Given the description of an element on the screen output the (x, y) to click on. 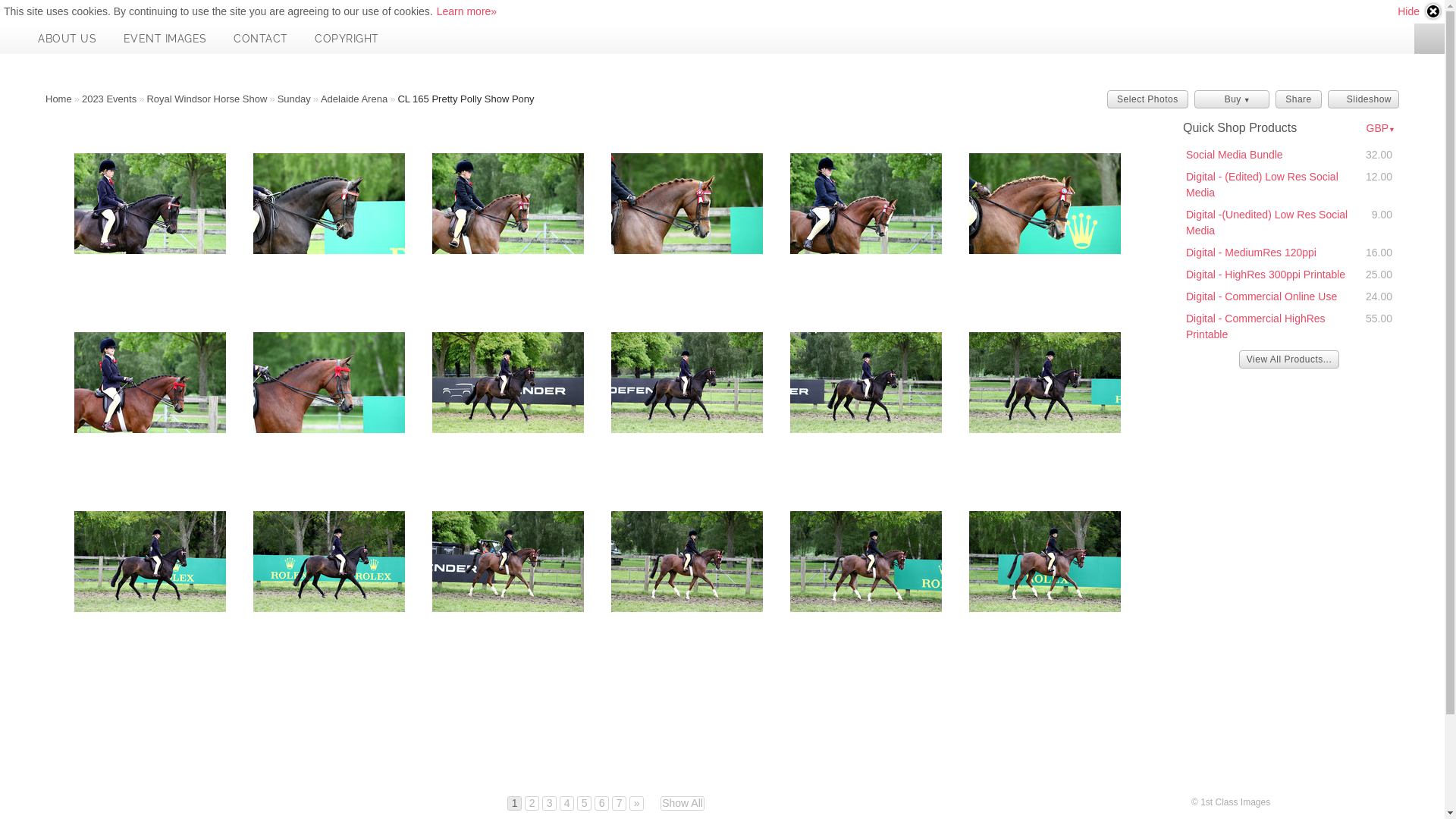
Sunday Element type: text (293, 98)
ABOUT US Element type: text (66, 38)
Digital - HighRes 300ppi Printable Element type: text (1265, 274)
6 Element type: text (601, 803)
EVENT IMAGES Element type: text (164, 38)
Digital - Commercial HighRes Printable Element type: text (1255, 326)
1 Element type: text (514, 803)
Hide Element type: text (1419, 11)
Social Media Bundle Element type: text (1234, 154)
COPYRIGHT Element type: text (346, 38)
Royal Windsor Horse Show Element type: text (206, 98)
Digital - (Edited) Low Res Social Media Element type: text (1262, 184)
Digital -(Unedited) Low Res Social Media Element type: text (1266, 222)
Home Element type: text (58, 98)
Show All Element type: text (682, 803)
2 Element type: text (531, 803)
5 Element type: text (584, 803)
7 Element type: text (618, 803)
Digital - Commercial Online Use Element type: text (1261, 296)
4 Element type: text (566, 803)
2023 Events Element type: text (108, 98)
3 Element type: text (549, 803)
Adelaide Arena Element type: text (353, 98)
Digital - MediumRes 120ppi Element type: text (1251, 252)
1st Class Images Element type: hover (14, 38)
CONTACT Element type: text (260, 38)
